Given the description of an element on the screen output the (x, y) to click on. 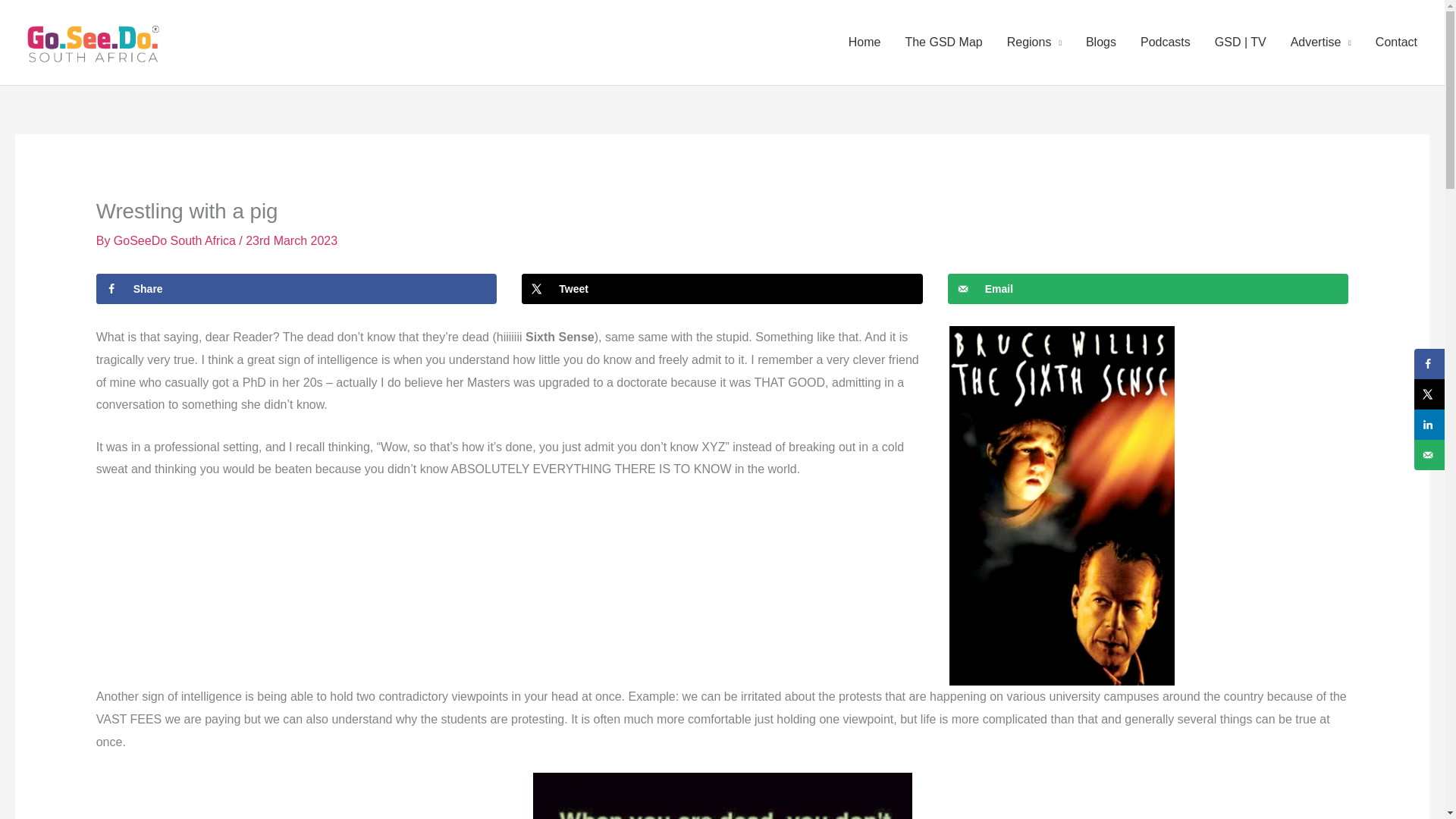
GoSeeDo South Africa (175, 240)
Share (296, 288)
Tweet (722, 288)
View all posts by GoSeeDo South Africa (175, 240)
Share on Facebook (296, 288)
Advertise (1320, 42)
Share on X (722, 288)
Send over email (1148, 288)
The GSD Map (943, 42)
Regions (1034, 42)
Email (1148, 288)
